Given the description of an element on the screen output the (x, y) to click on. 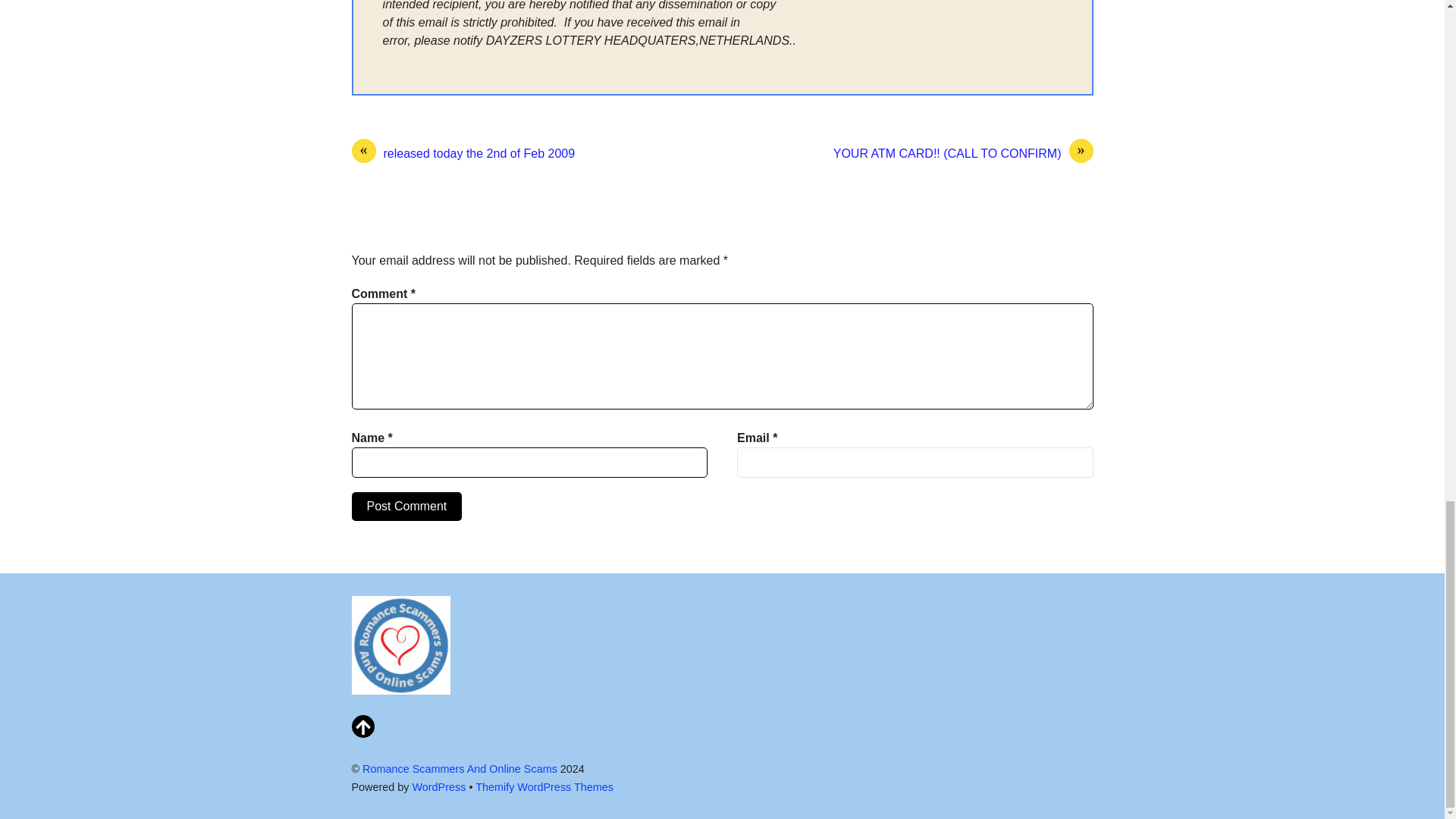
WordPress (438, 787)
Romance Scammers And Online Scams (459, 768)
Post Comment (407, 506)
Post Comment (407, 506)
Themify WordPress Themes (544, 787)
